Given the description of an element on the screen output the (x, y) to click on. 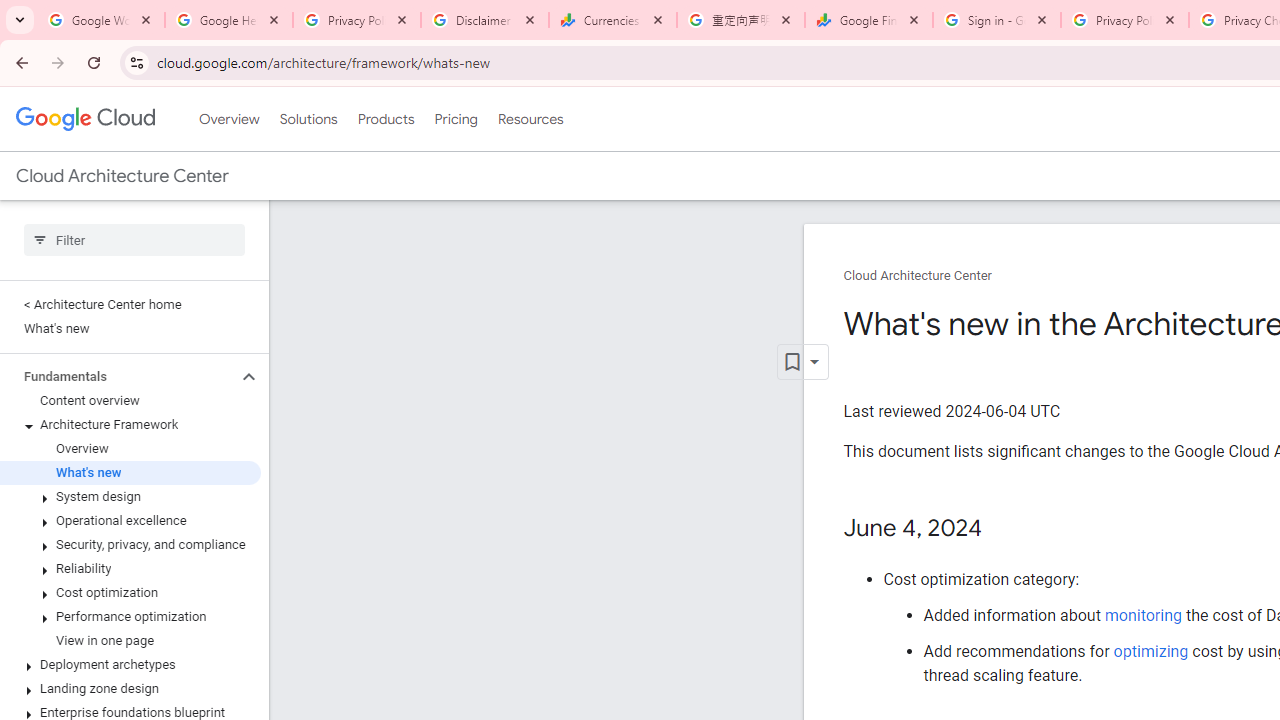
Resources (530, 119)
Content overview (130, 400)
Performance optimization (130, 616)
Products (385, 119)
Reliability (130, 569)
Currencies - Google Finance (613, 20)
Copy link to this section: June 4, 2024 (1001, 529)
Operational excellence (130, 520)
